Given the description of an element on the screen output the (x, y) to click on. 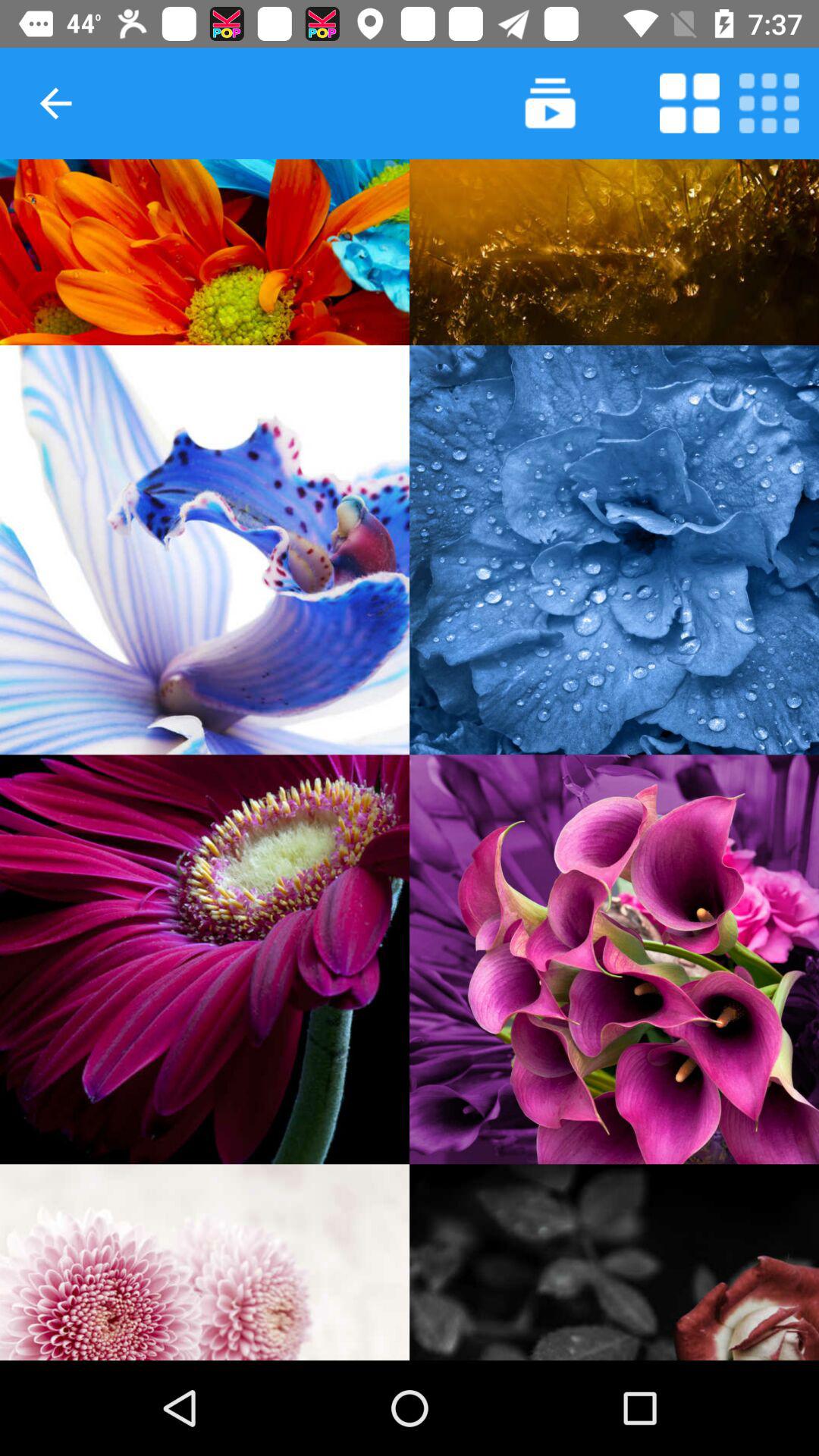
show category (614, 1262)
